Given the description of an element on the screen output the (x, y) to click on. 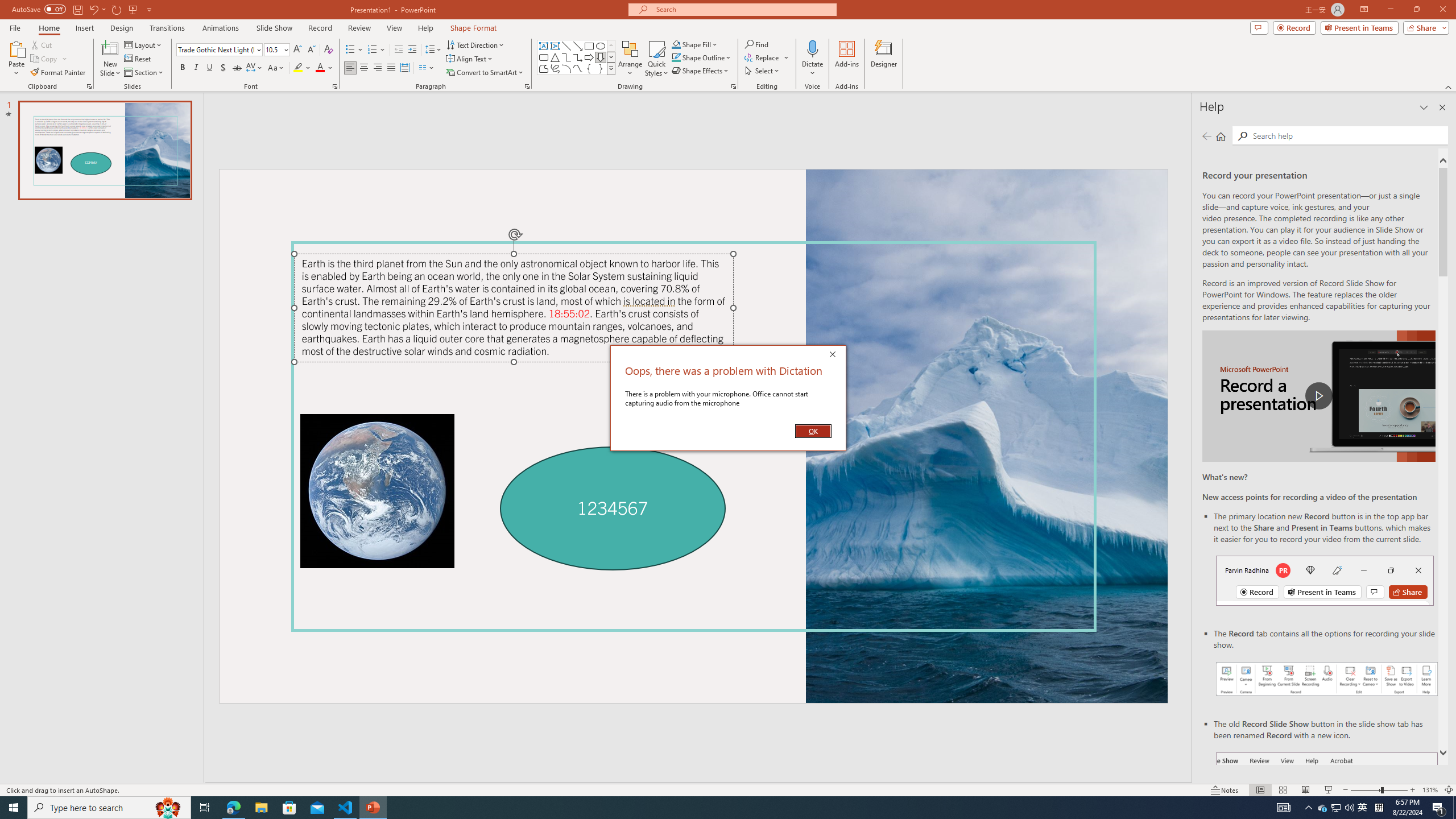
Replace... (762, 56)
Zoom to Fit  (1449, 790)
Paragraph... (526, 85)
Text Highlight Color (302, 67)
Customize Quick Access Toolbar (149, 9)
Tray Input Indicator - Chinese (Simplified, China) (1378, 807)
Arc (566, 68)
Paste (1362, 807)
Decrease Indent (16, 58)
Type here to search (398, 49)
Line (108, 807)
PowerPoint - 1 running window (566, 45)
